Given the description of an element on the screen output the (x, y) to click on. 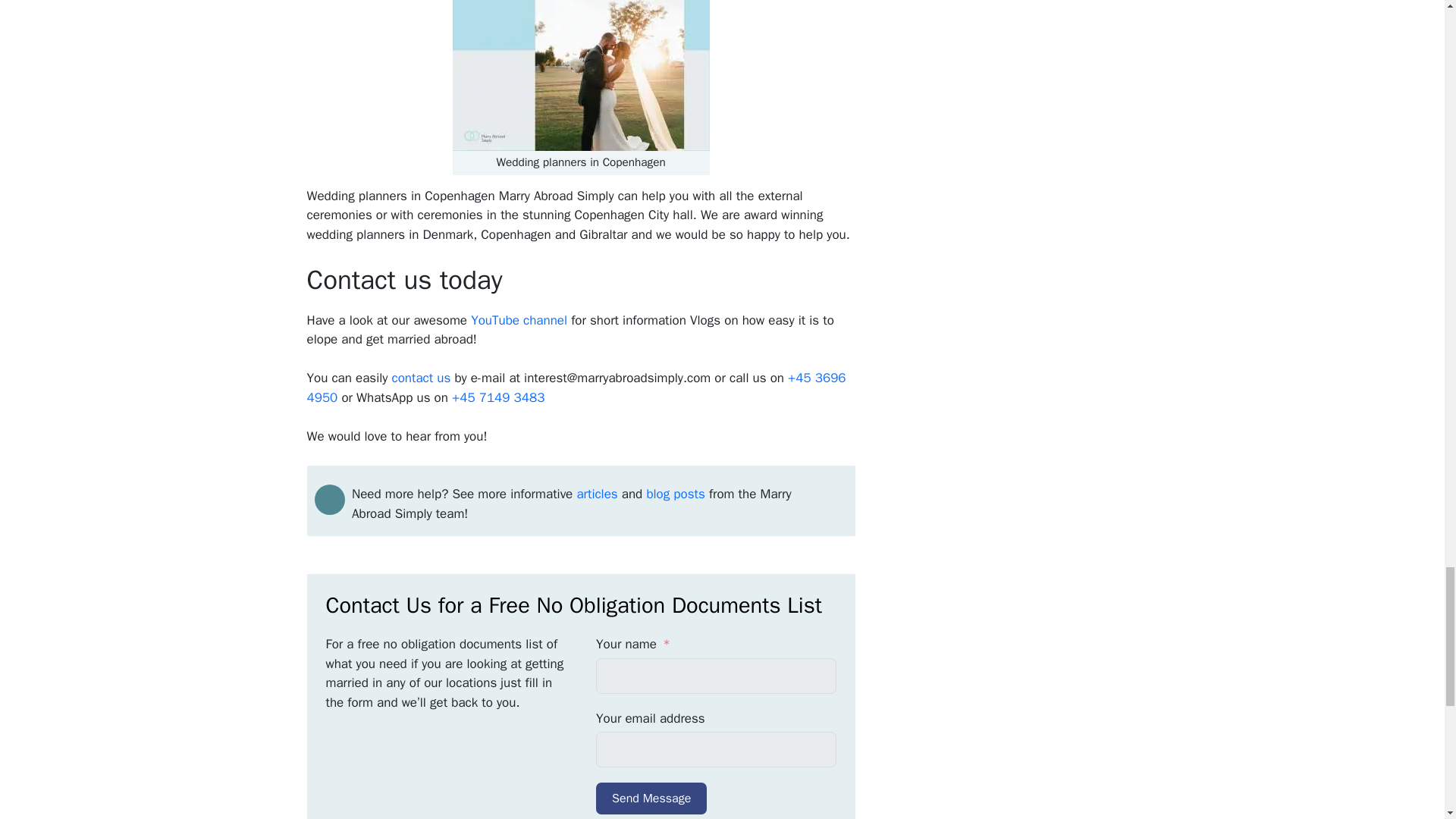
YouTube channel  (520, 320)
articles (596, 494)
contact us (421, 377)
blog posts (675, 494)
